Given the description of an element on the screen output the (x, y) to click on. 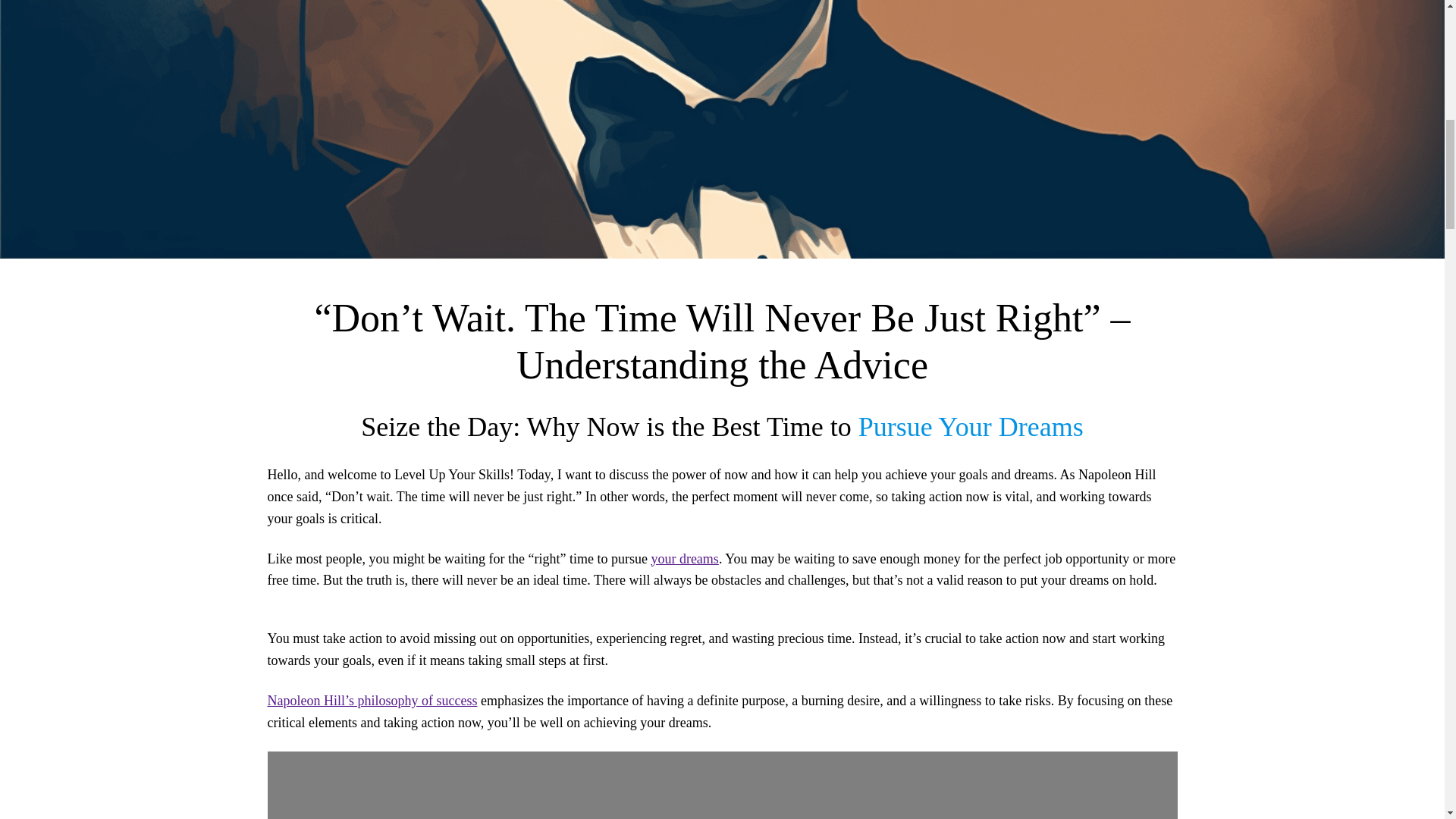
your dreams (683, 558)
